Given the description of an element on the screen output the (x, y) to click on. 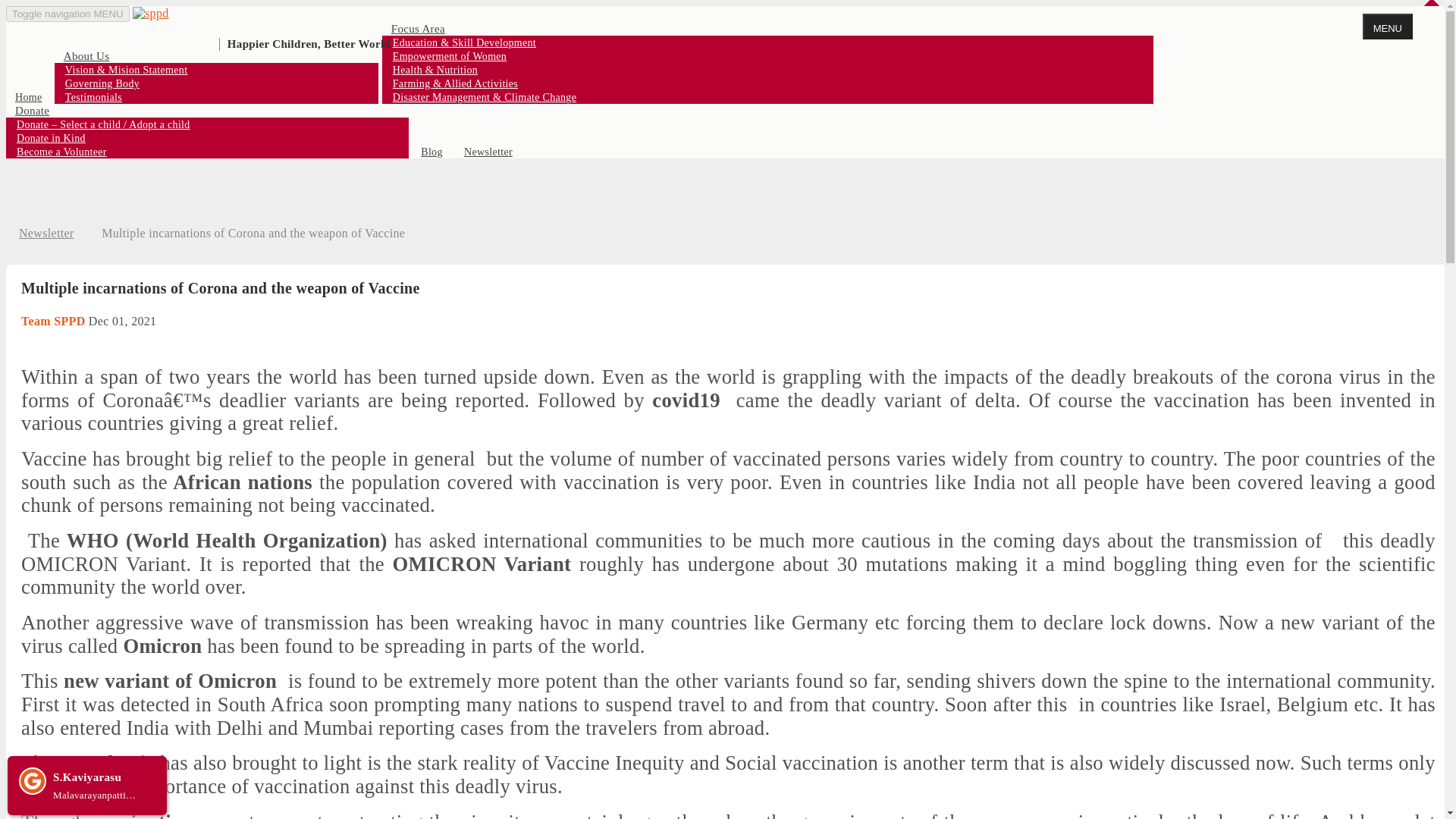
Happier Children, Better World (261, 13)
Empowerment of Women (448, 56)
Donate (31, 110)
Newsletter (487, 151)
Focus Area (417, 28)
Become a Volunteer (61, 151)
Donate in Kind (50, 137)
Newsletter (46, 232)
Governing Body (102, 83)
About Us (86, 55)
Testimonials (93, 96)
Toggle navigation MENU (67, 13)
